Given the description of an element on the screen output the (x, y) to click on. 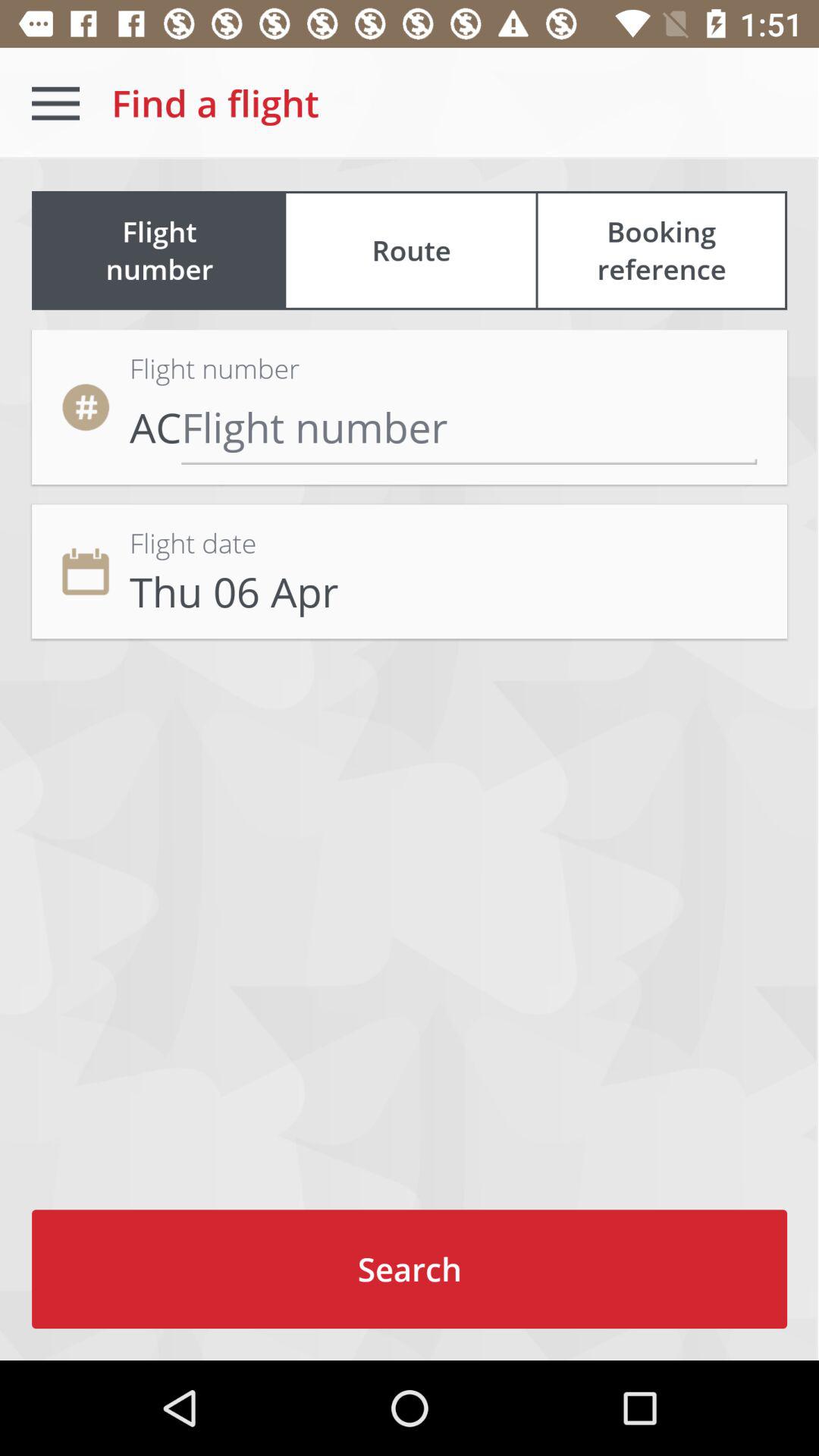
choose the item to the right of flight
number item (661, 250)
